Given the description of an element on the screen output the (x, y) to click on. 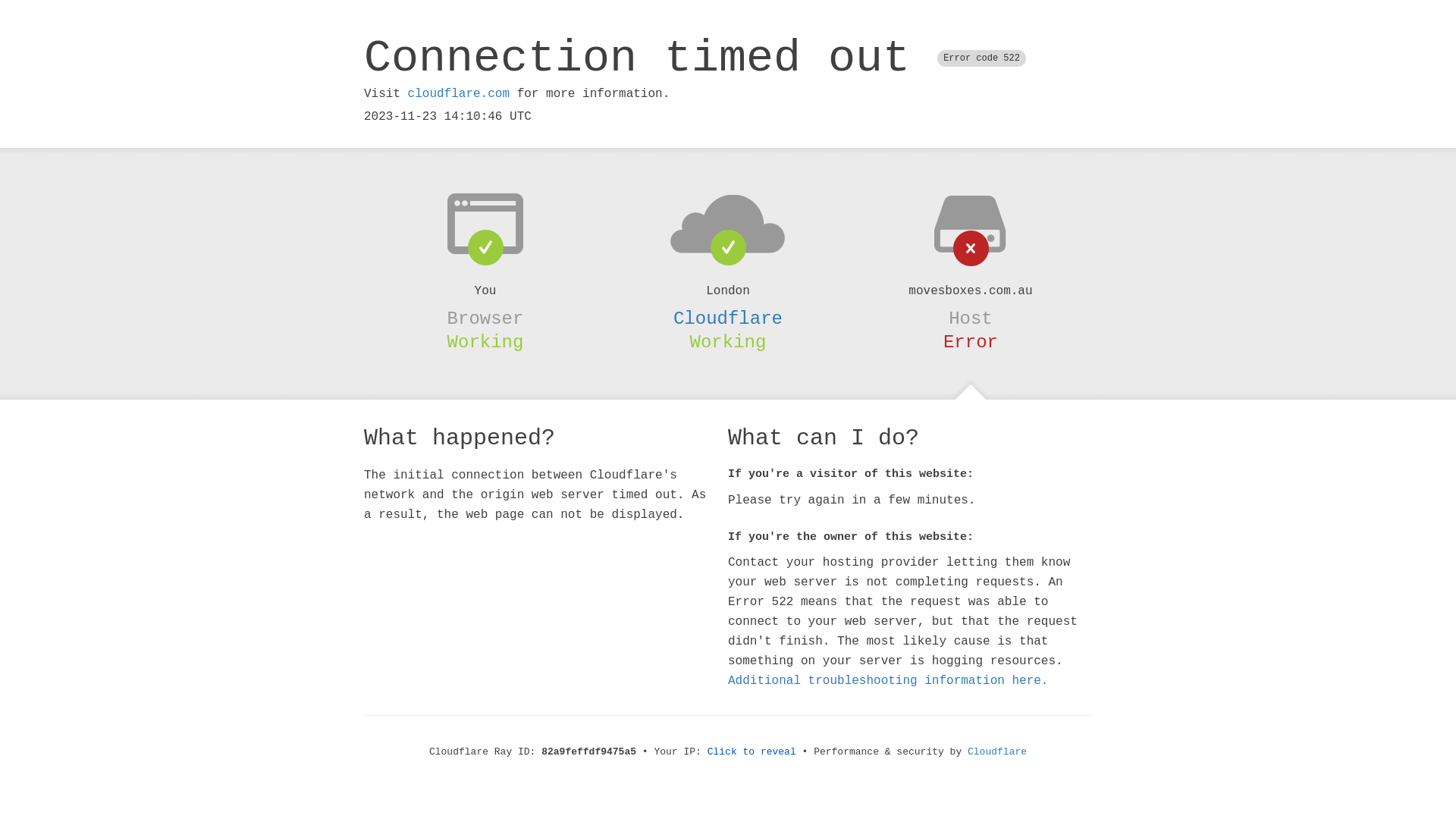
Cloudflare Element type: text (727, 318)
Cloudflare Element type: text (996, 751)
Click to reveal Element type: text (751, 751)
Additional troubleshooting information here. Element type: text (888, 680)
cloudflare.com Element type: text (458, 93)
